Given the description of an element on the screen output the (x, y) to click on. 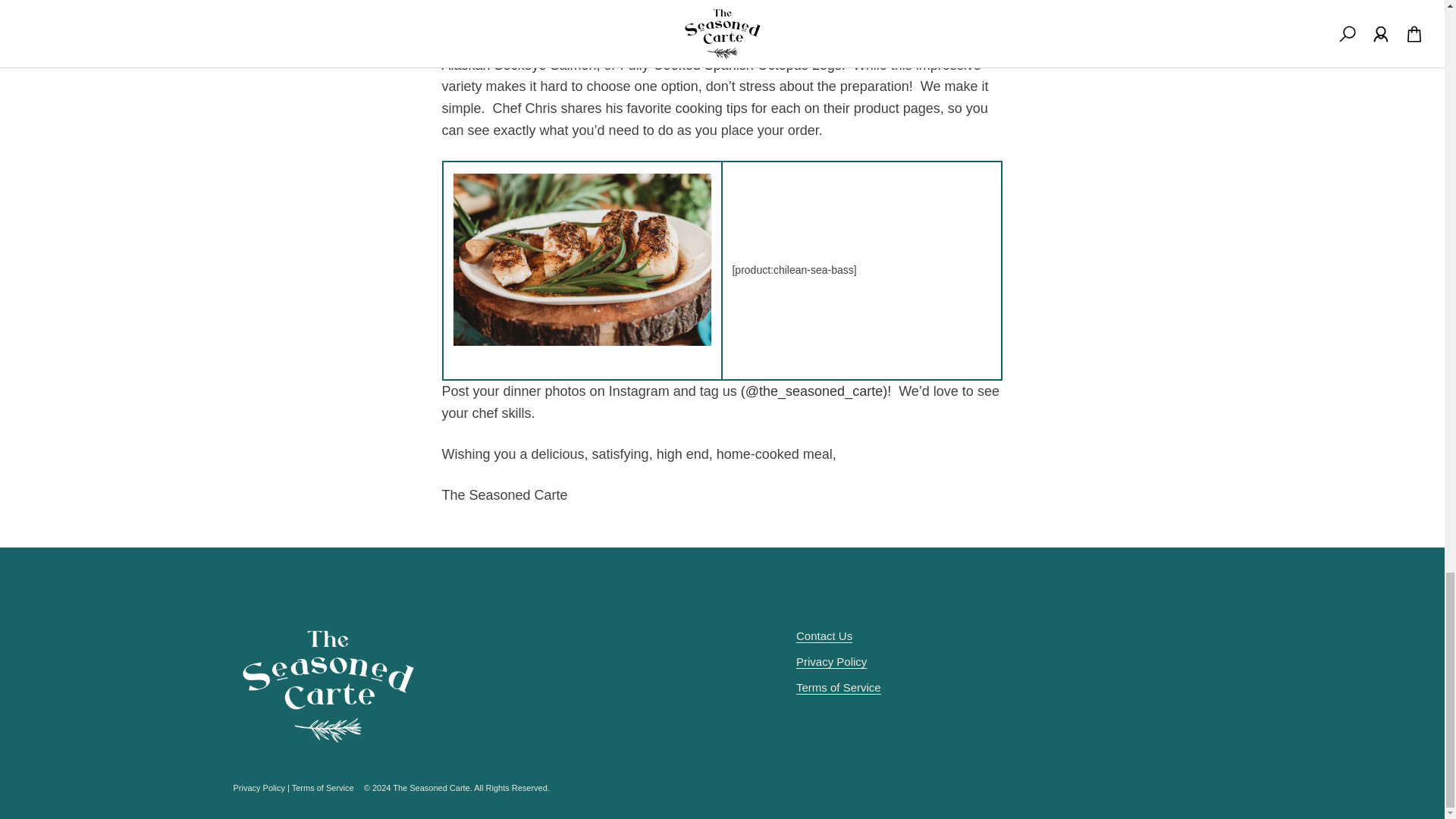
Alaskan Sockeye Salmon (518, 64)
Terms of Service (838, 687)
Terms of Service (322, 787)
Chilean Sea Bass Filets (741, 43)
South African Lobster Tails (903, 43)
Contact Us (823, 636)
Privacy Policy (258, 787)
Privacy Policy (831, 661)
Fully-Cooked Spanish Octopus Legs (730, 64)
